Given the description of an element on the screen output the (x, y) to click on. 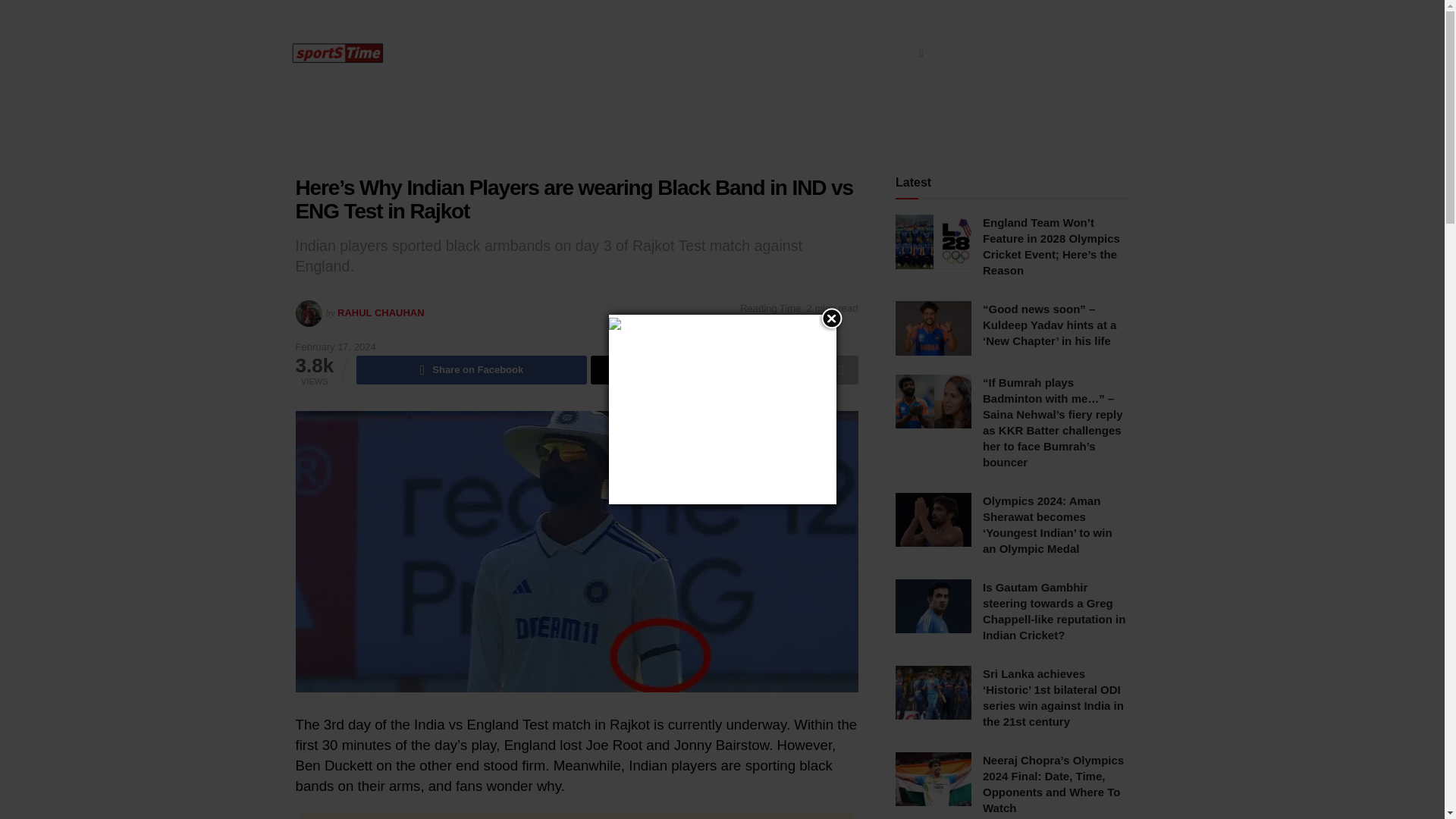
CRICKET WORLD CUP 2023 (569, 53)
FOOTBALL (701, 53)
Share on Twitter (706, 369)
RAHUL CHAUHAN (381, 312)
Share on Facebook (471, 369)
February 17, 2024 (335, 346)
FANTASY TIPS (985, 53)
EVENTS (895, 53)
CRICKET (443, 53)
OTHER SPORTS (800, 53)
